Given the description of an element on the screen output the (x, y) to click on. 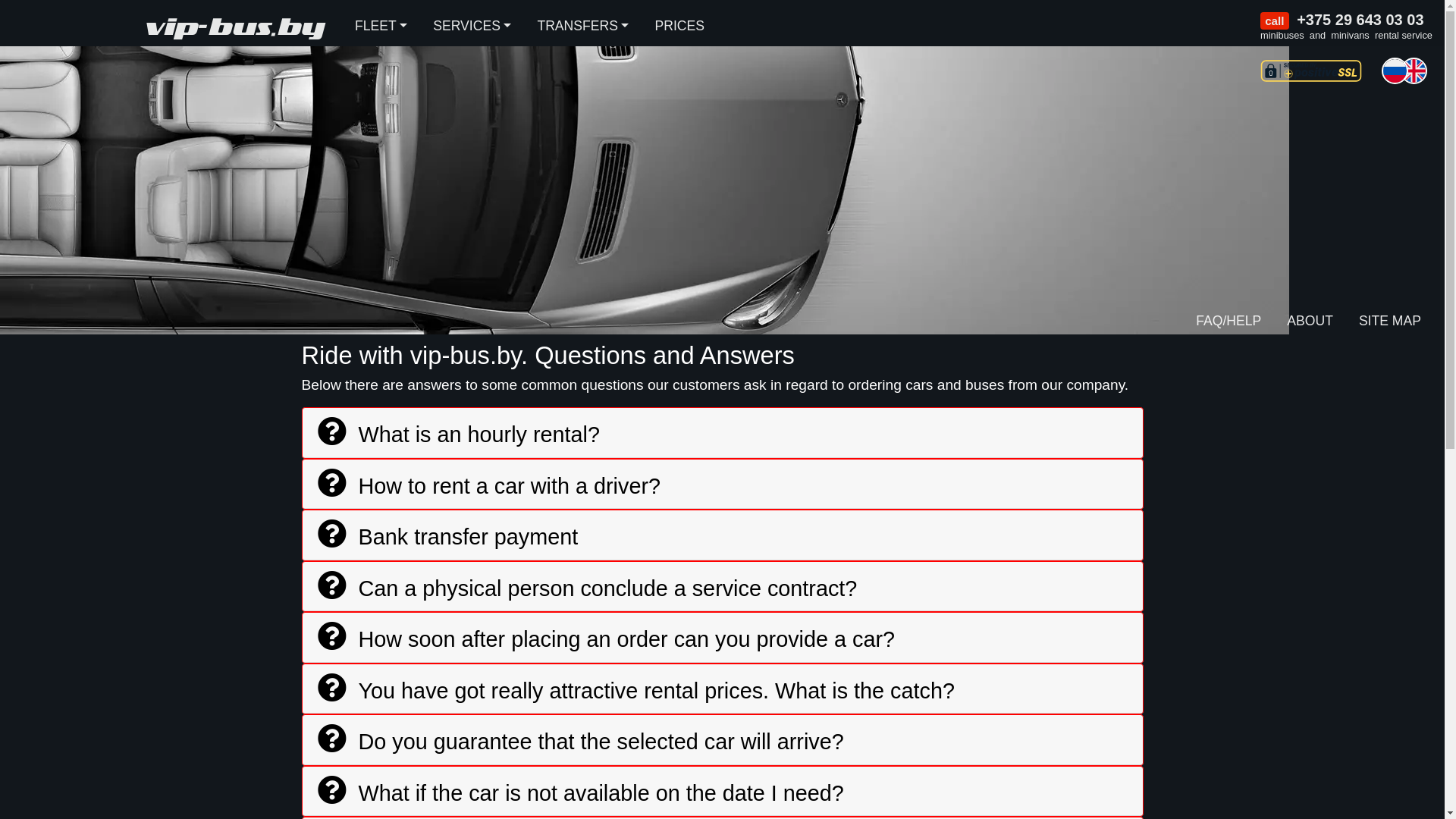
ABOUT Element type: text (1309, 320)
What is an hourly rental? Element type: text (457, 437)
PRICES Element type: text (679, 25)
How soon after placing an order can you provide a car? Element type: text (605, 641)
Can a physical person conclude a service contract? Element type: text (586, 591)
How to rent a car with a driver? Element type: text (488, 488)
call  +375 29 643 03 03 Element type: text (1346, 19)
Do you guarantee that the selected car will arrive? Element type: text (579, 744)
Bank transfer payment Element type: text (446, 539)
FAQ/HELP Element type: text (1228, 320)
SITE MAP Element type: text (1389, 320)
vip-bus.by Element type: text (233, 26)
DV certificate trust logo Element type: hover (1311, 70)
What if the car is not available on the date I need? Element type: text (579, 795)
